Given the description of an element on the screen output the (x, y) to click on. 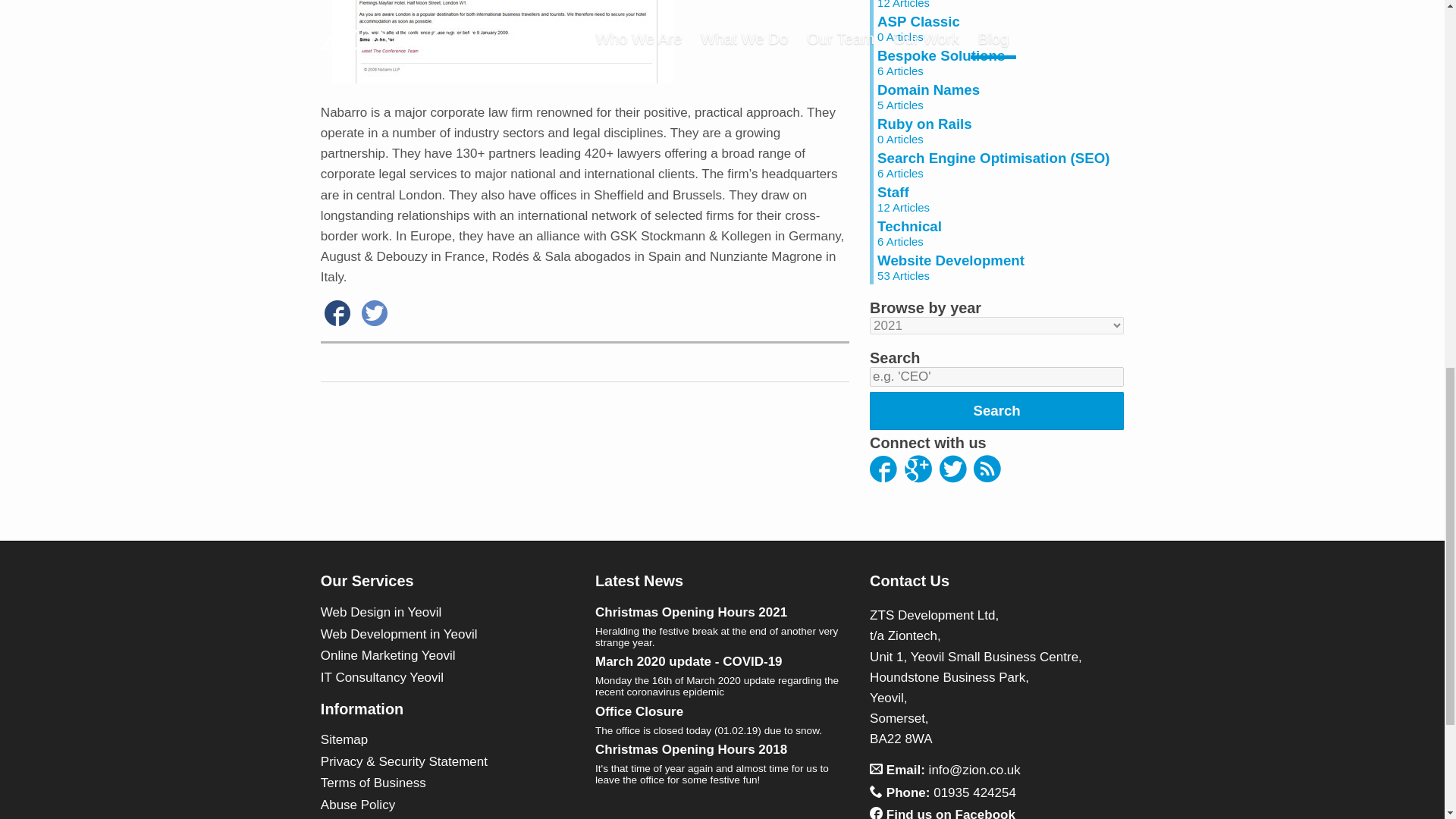
Connect with us on Facebook (998, 233)
Connect with us on Google Plus (882, 471)
Web Development in Yeovil (998, 96)
Web Design in Yeovil (998, 130)
Online Marketing Yeovil (998, 4)
